Given the description of an element on the screen output the (x, y) to click on. 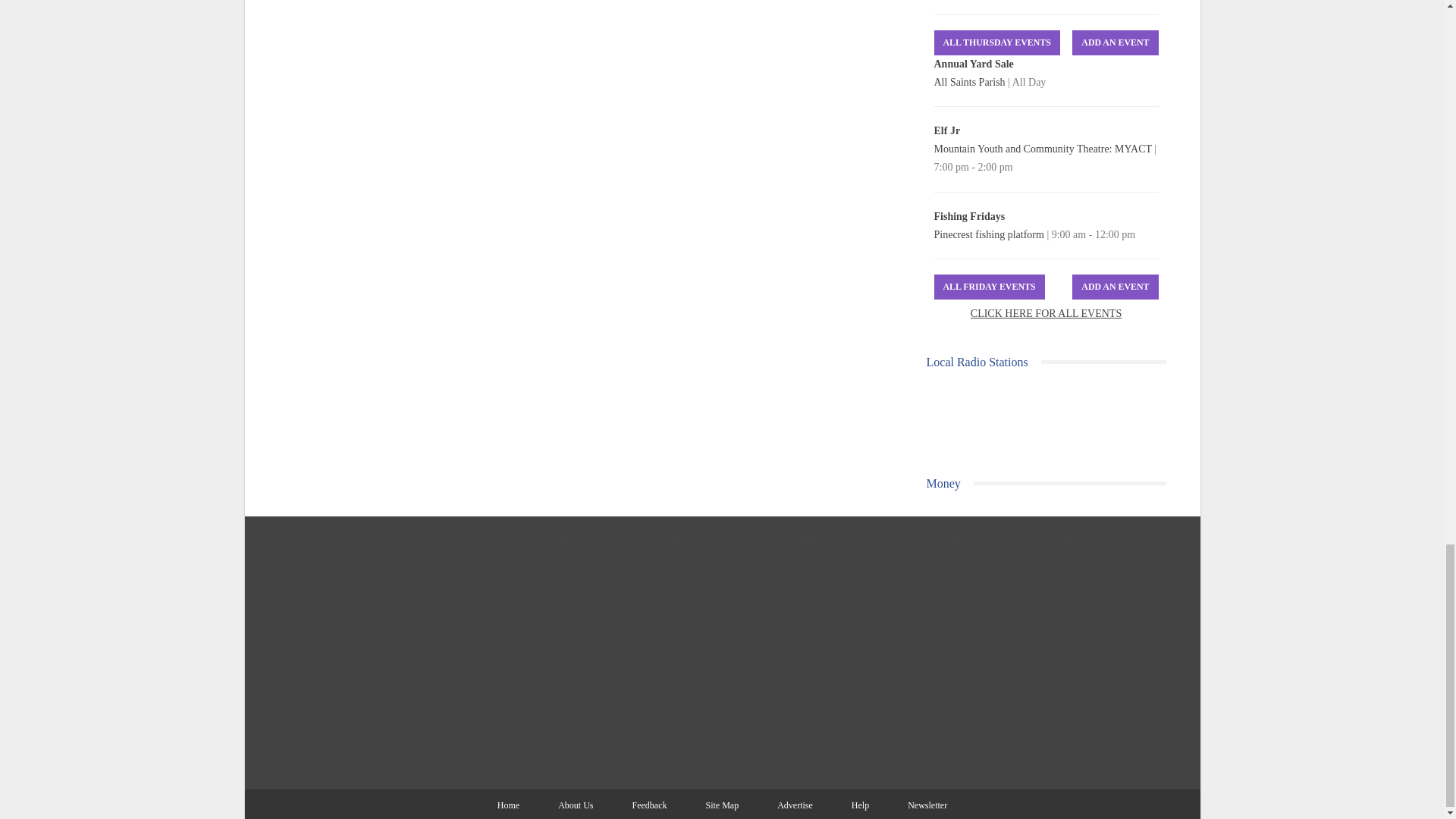
All Thursday Events (996, 42)
Add An Event (1114, 286)
All Friday Events (989, 286)
Add An Event (1114, 42)
